Given the description of an element on the screen output the (x, y) to click on. 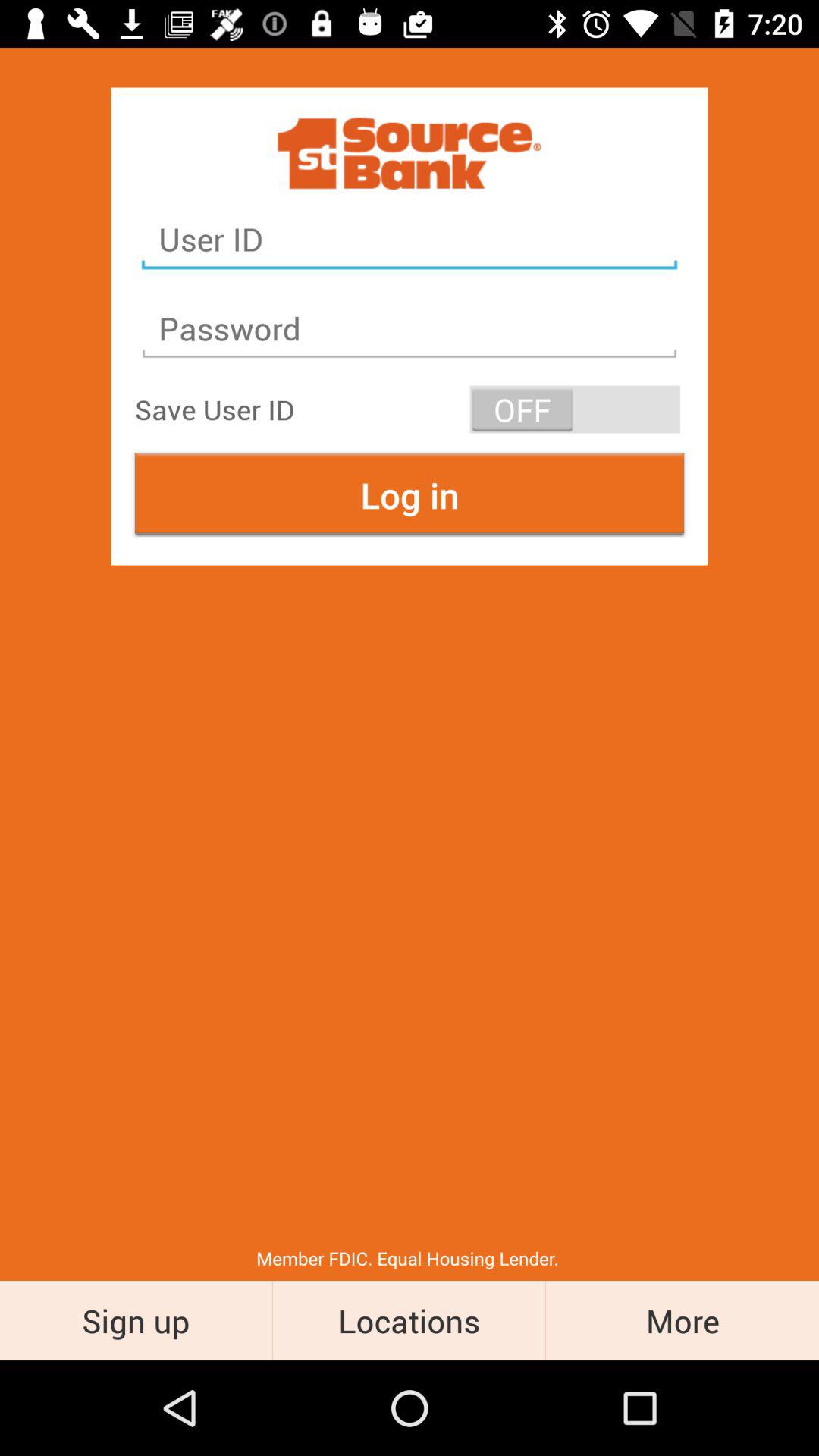
turn off item at the bottom right corner (682, 1320)
